Given the description of an element on the screen output the (x, y) to click on. 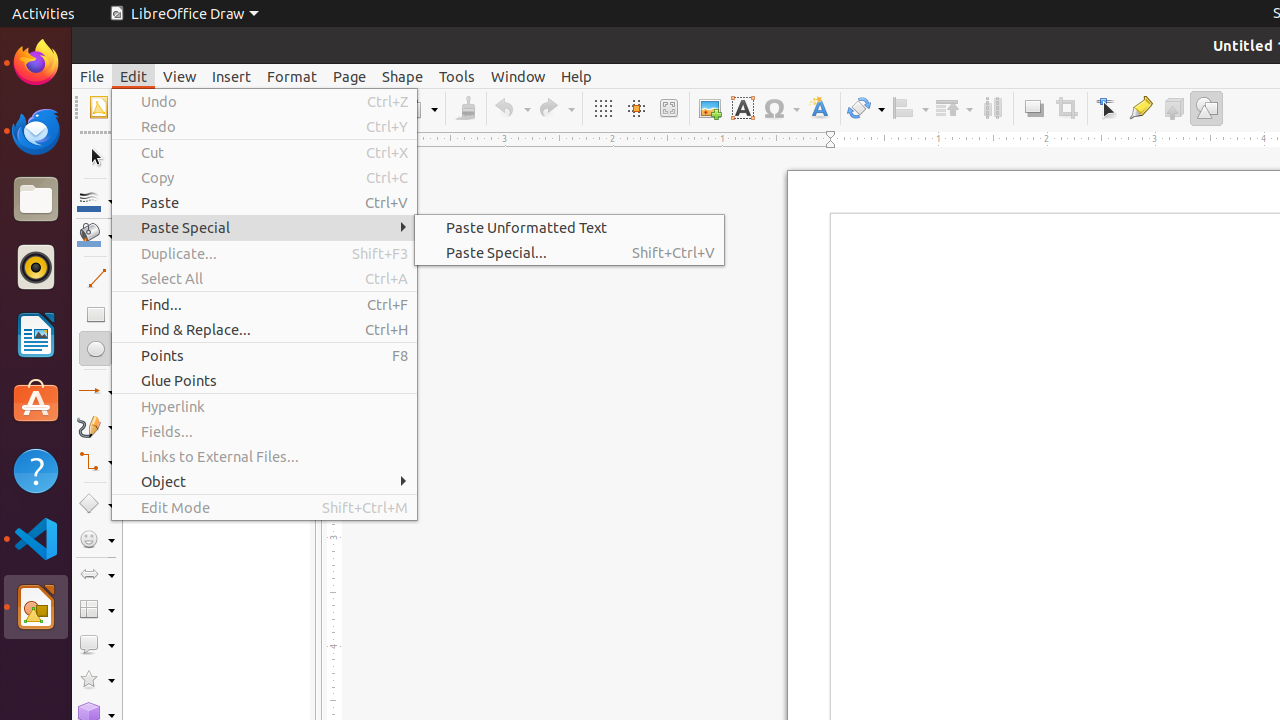
Toggle Extrusion Element type: push-button (1173, 108)
Arrange Element type: push-button (954, 108)
Distribution Element type: push-button (992, 108)
Redo Element type: menu-item (264, 126)
View Element type: menu (179, 76)
